Given the description of an element on the screen output the (x, y) to click on. 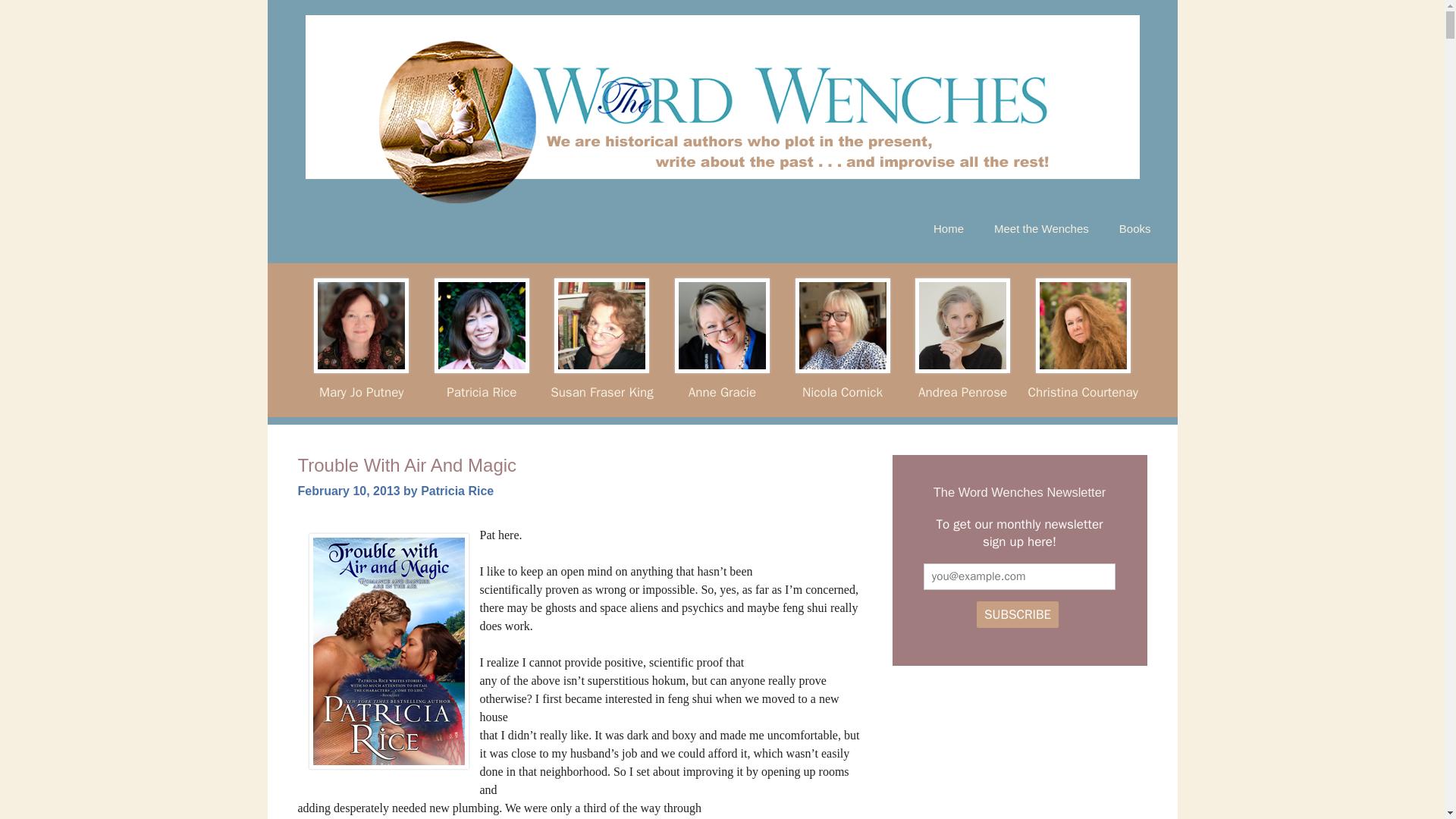
Nicola Cornick (842, 391)
Subscribe (1017, 614)
Anne Gracie (721, 391)
Mary Jo Putney (360, 391)
Susan Fraser King (601, 391)
Andrea Penrose (962, 391)
View all posts by Patricia Rice (456, 490)
Patricia Rice (456, 490)
Christina Courtenay (1082, 391)
Home (948, 228)
